Given the description of an element on the screen output the (x, y) to click on. 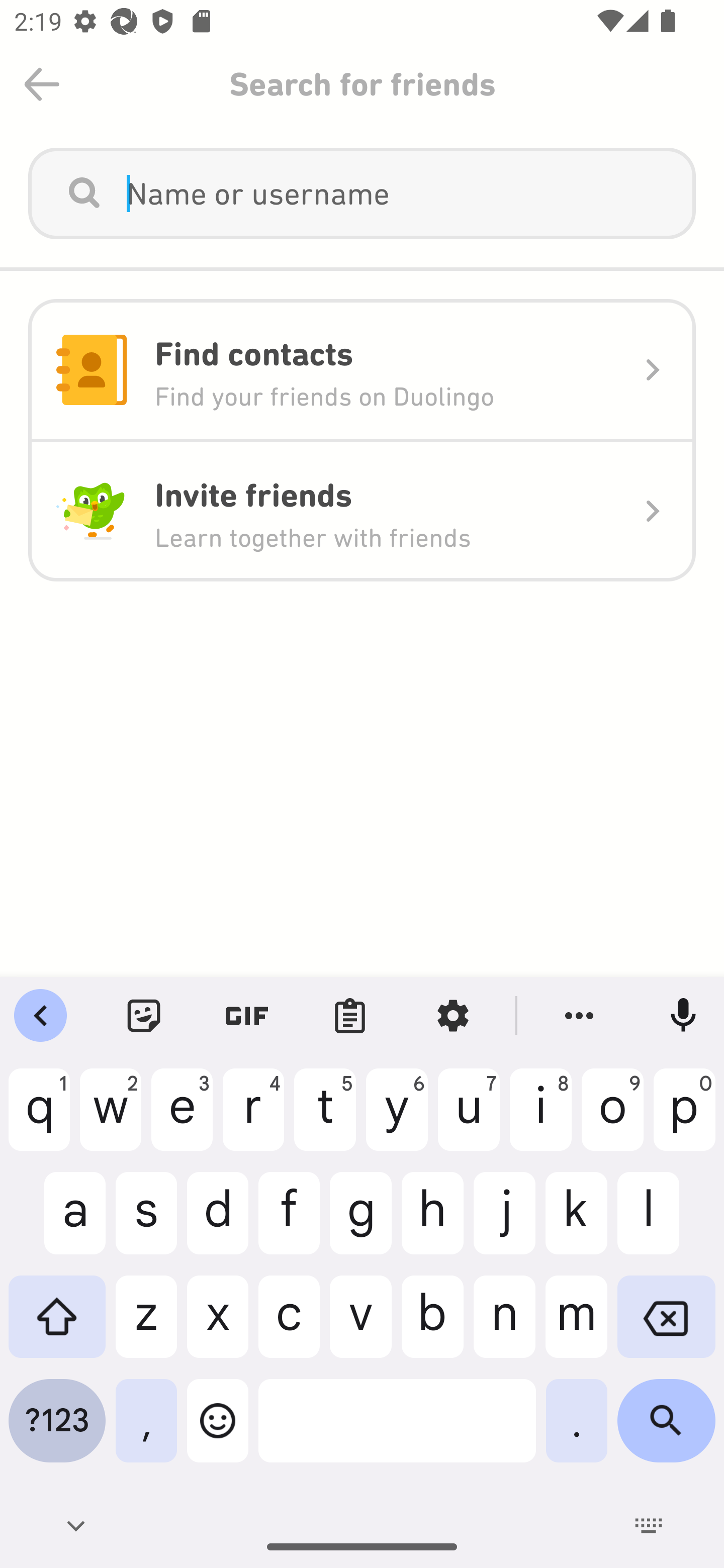
Back (41, 84)
Name or username (361, 193)
Name or username (397, 193)
Find contacts Find your friends on Duolingo (361, 369)
Invite friends Learn together with friends (361, 510)
